Given the description of an element on the screen output the (x, y) to click on. 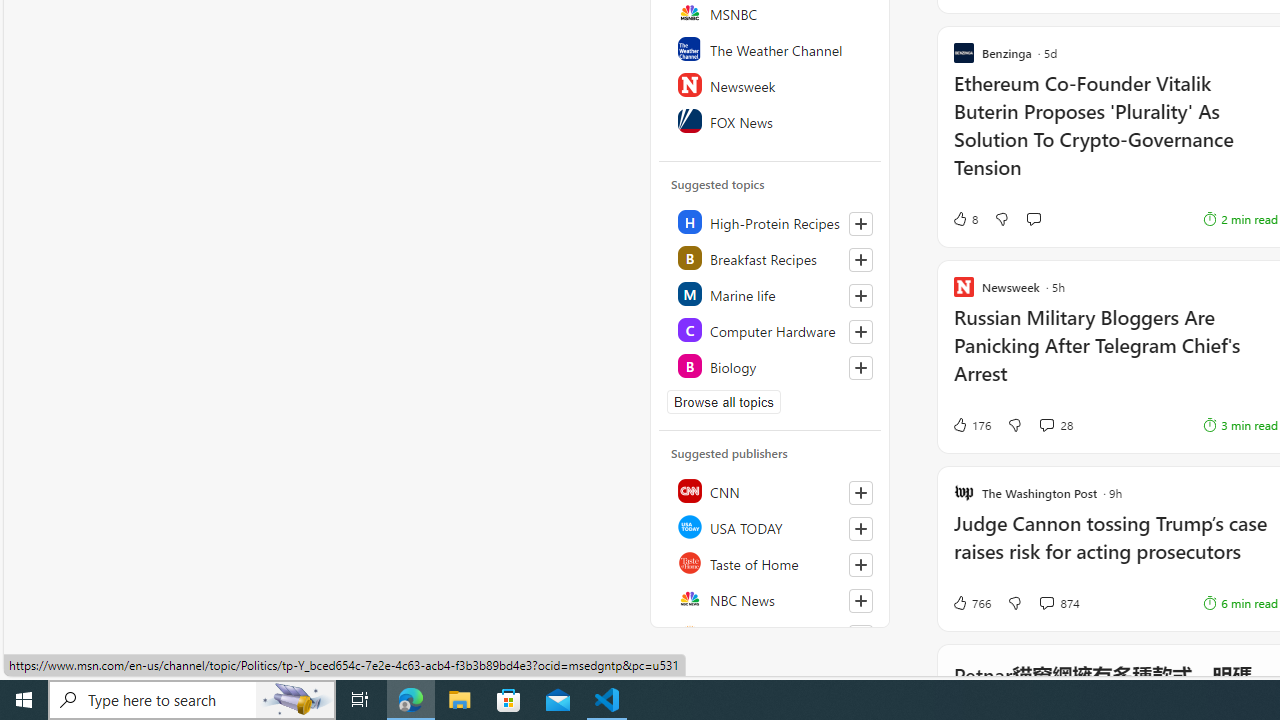
FOX News (771, 120)
766 Like (970, 602)
The Weather Channel (771, 48)
View comments 874 Comment (1059, 602)
View comments 874 Comment (1046, 602)
Follow this source (860, 600)
Taste of Home (771, 562)
View comments 28 Comment (1046, 424)
